Given the description of an element on the screen output the (x, y) to click on. 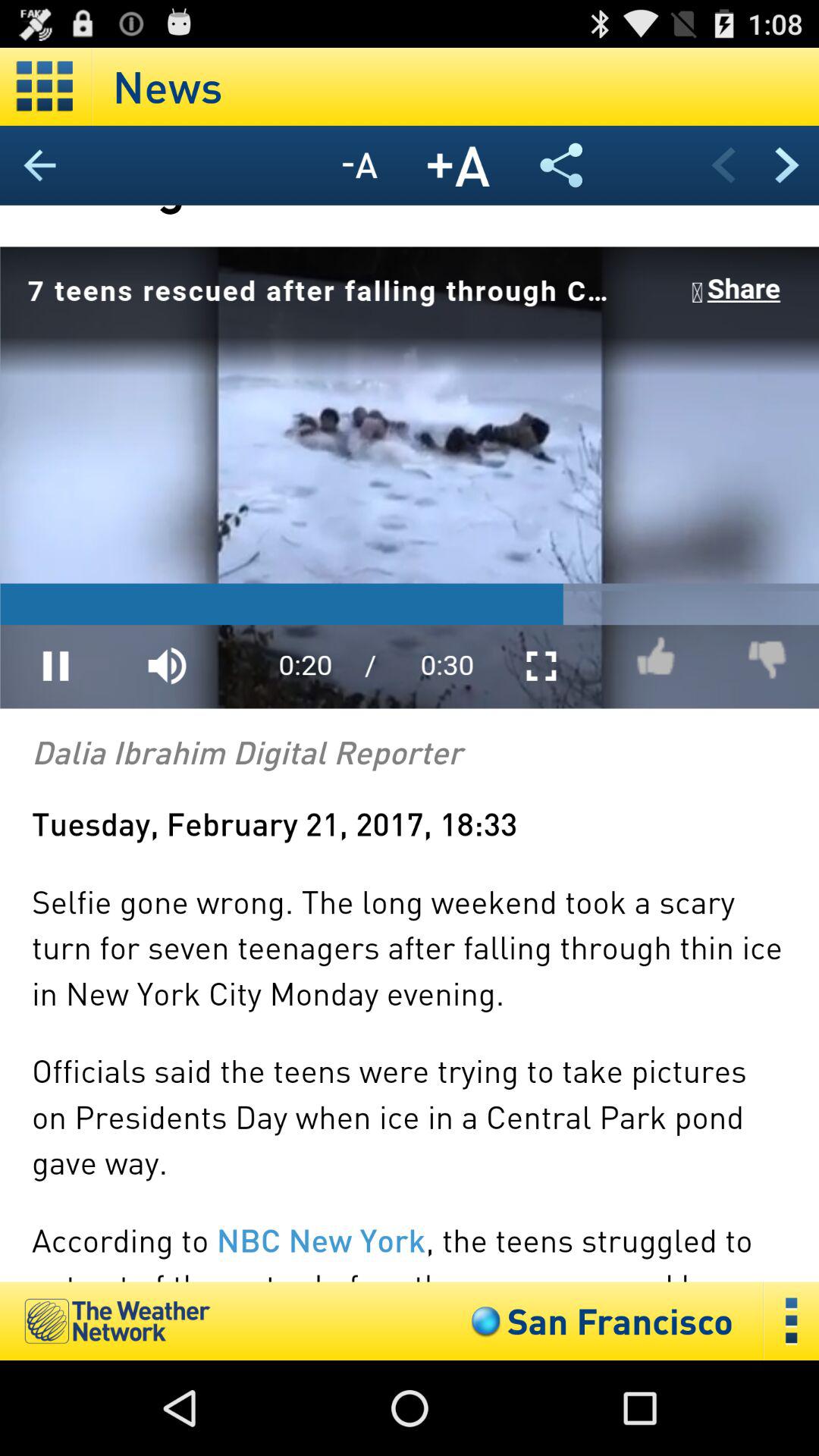
more details (791, 1320)
